Given the description of an element on the screen output the (x, y) to click on. 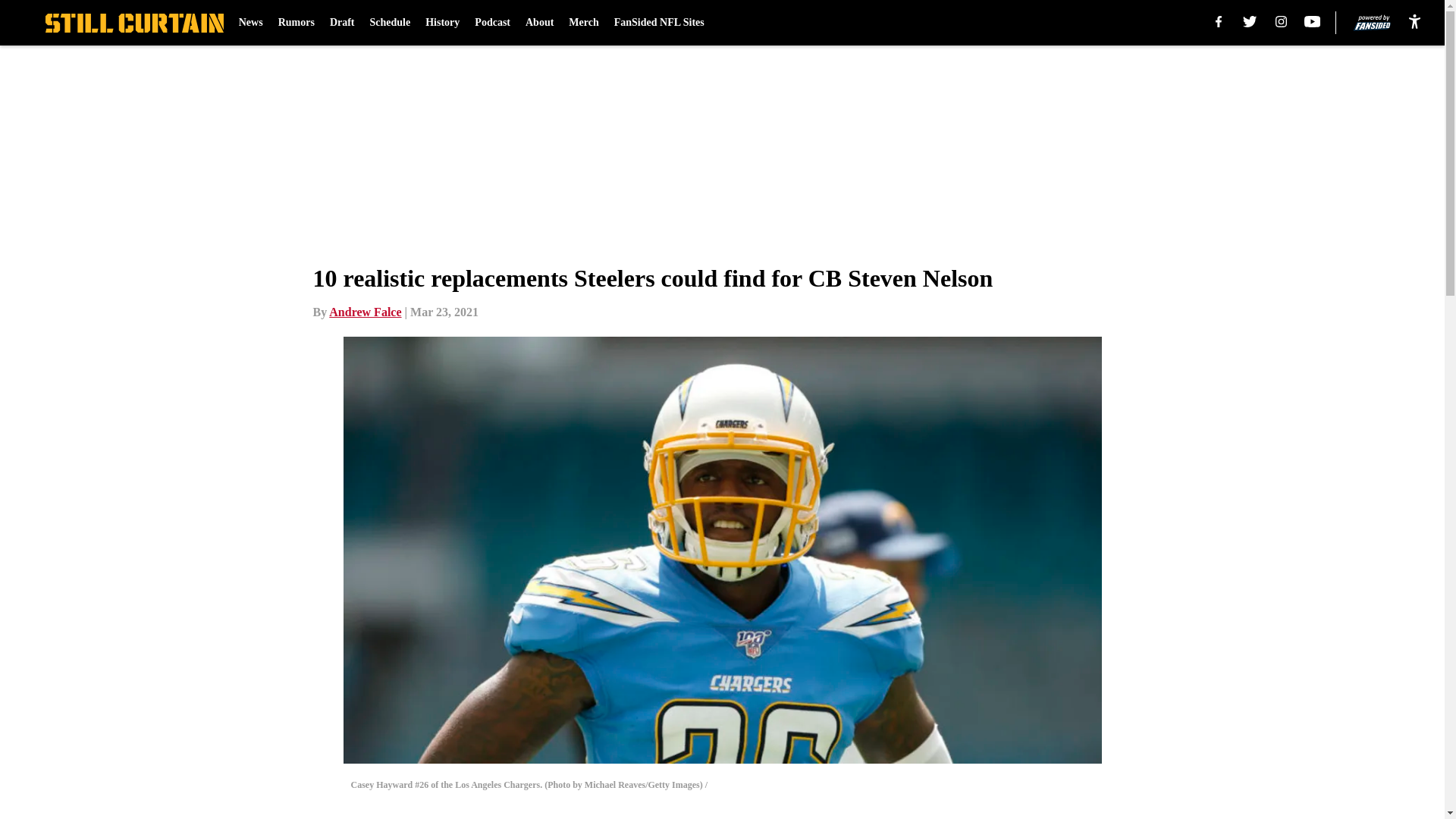
About (539, 22)
Schedule (389, 22)
History (442, 22)
Podcast (492, 22)
FanSided NFL Sites (659, 22)
News (250, 22)
Merch (583, 22)
Andrew Falce (365, 311)
Rumors (296, 22)
Draft (342, 22)
